Given the description of an element on the screen output the (x, y) to click on. 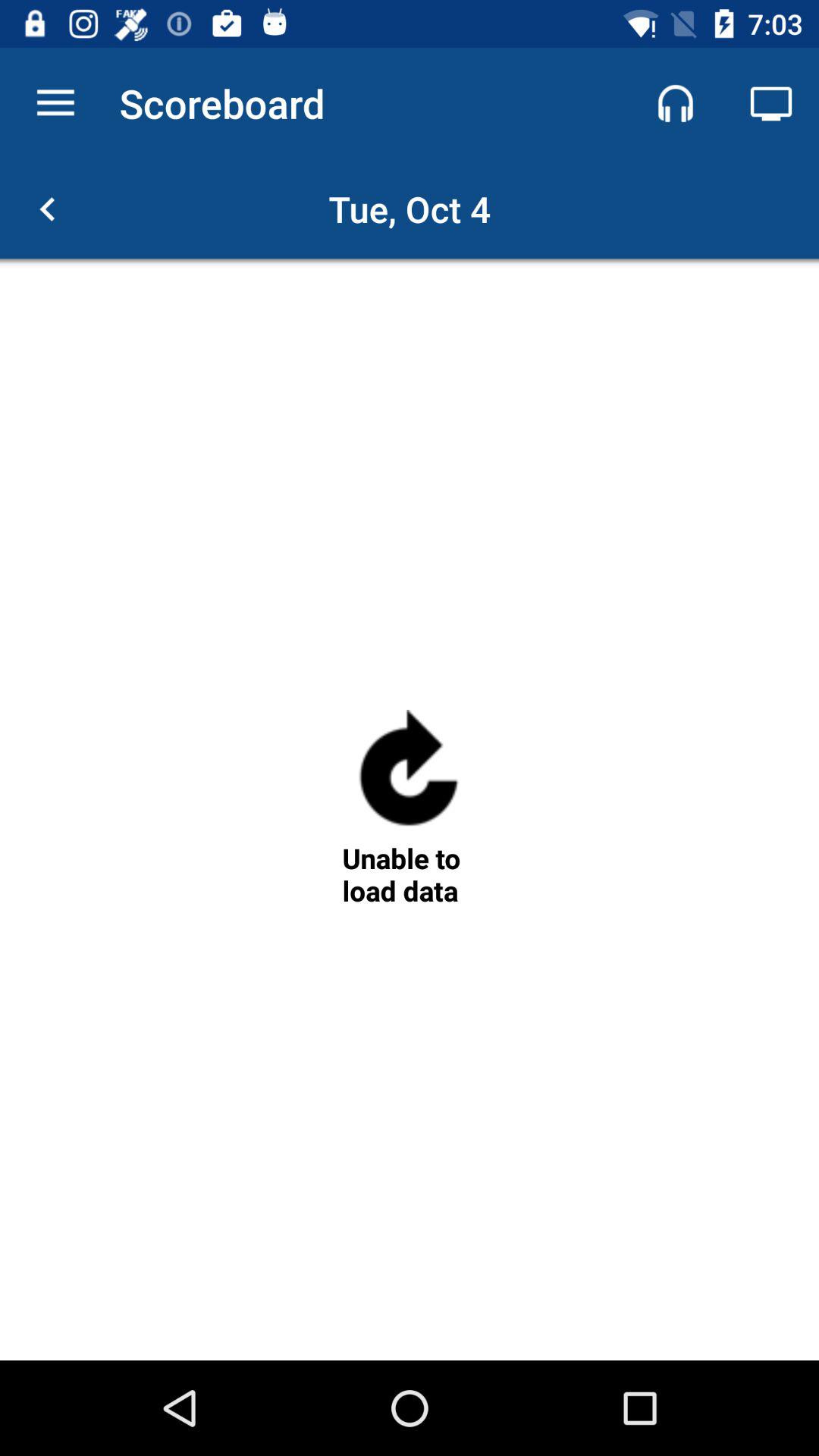
go back (47, 208)
